Given the description of an element on the screen output the (x, y) to click on. 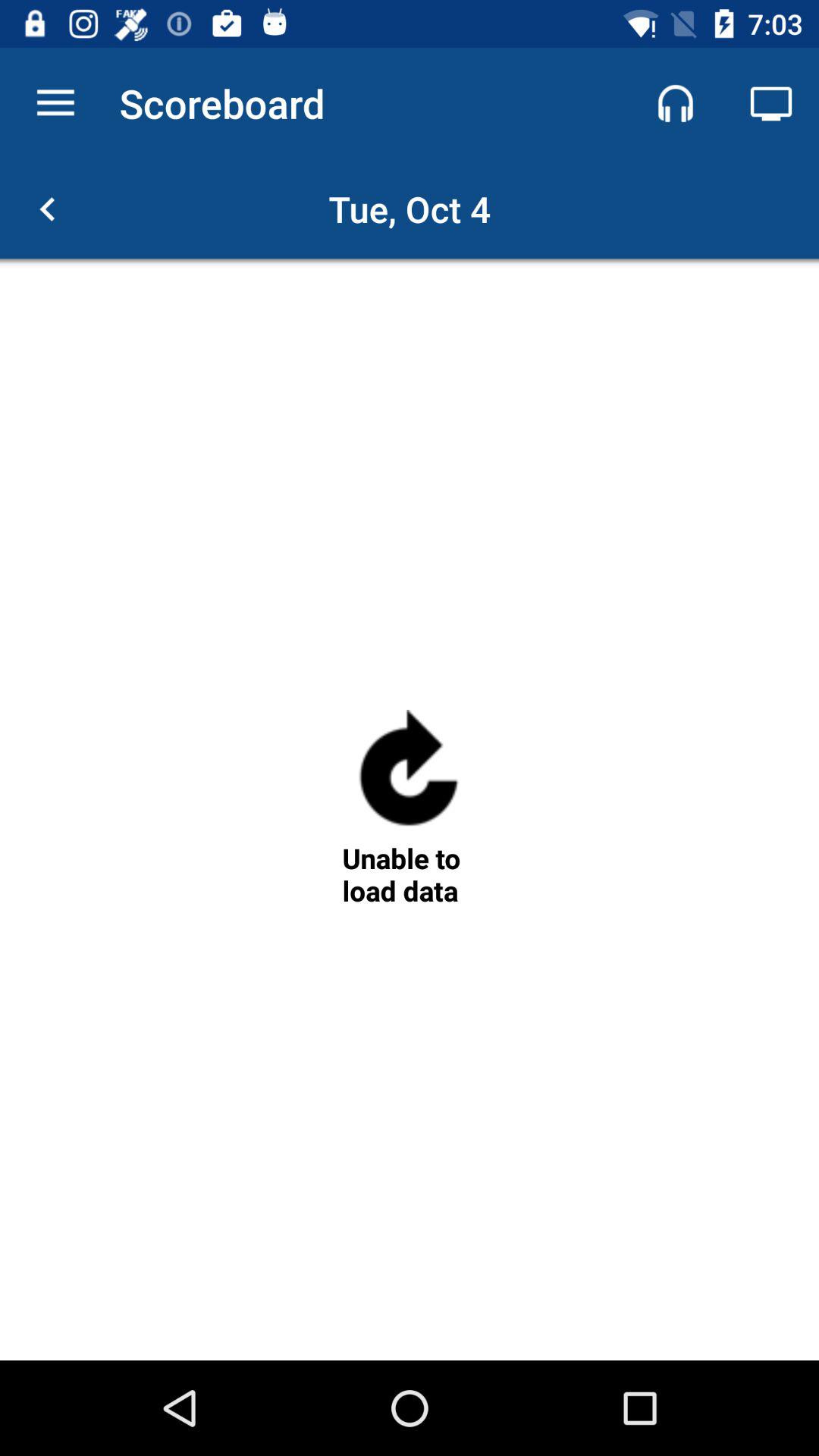
go back (47, 208)
